Given the description of an element on the screen output the (x, y) to click on. 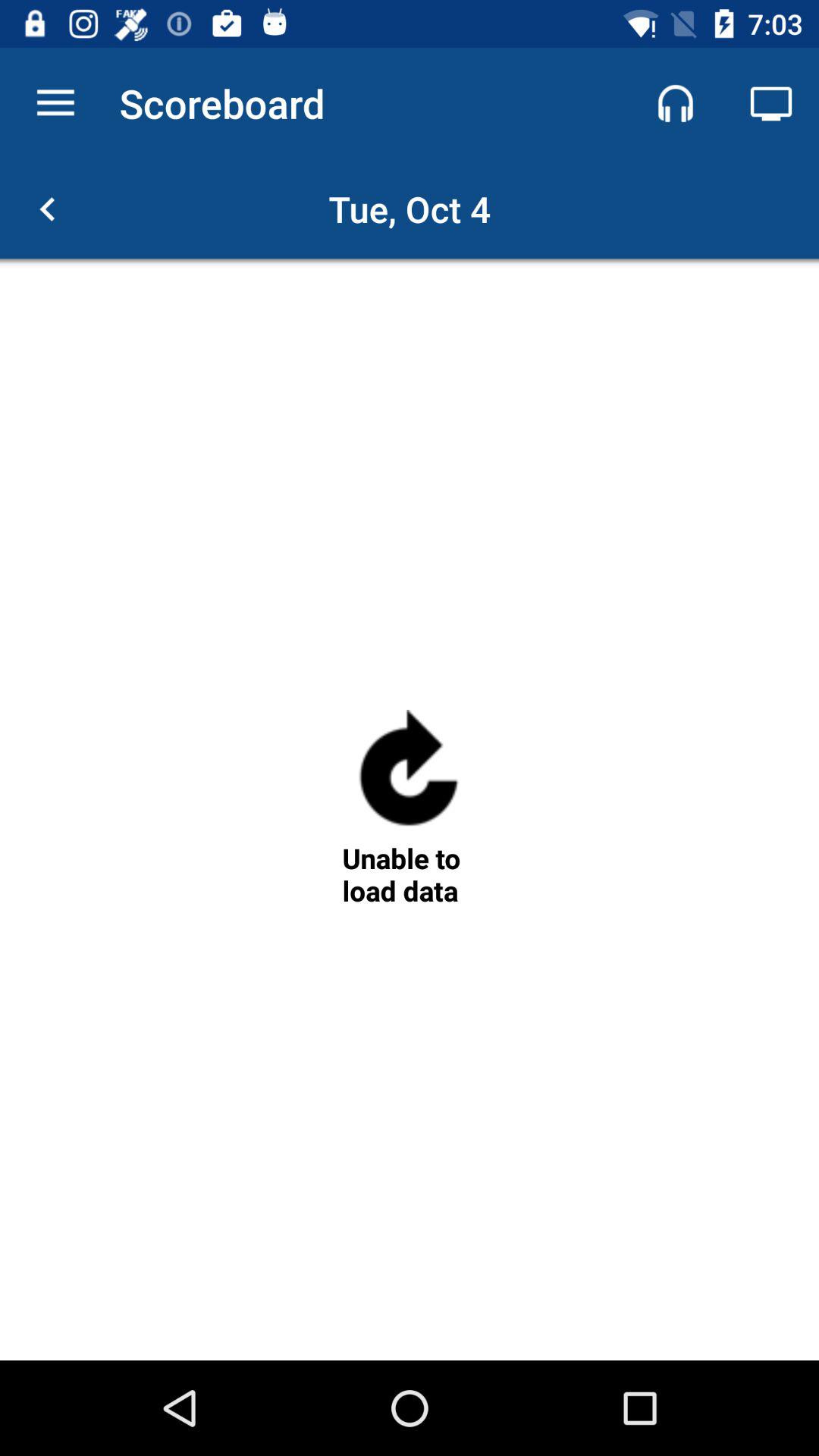
go back (47, 208)
